Given the description of an element on the screen output the (x, y) to click on. 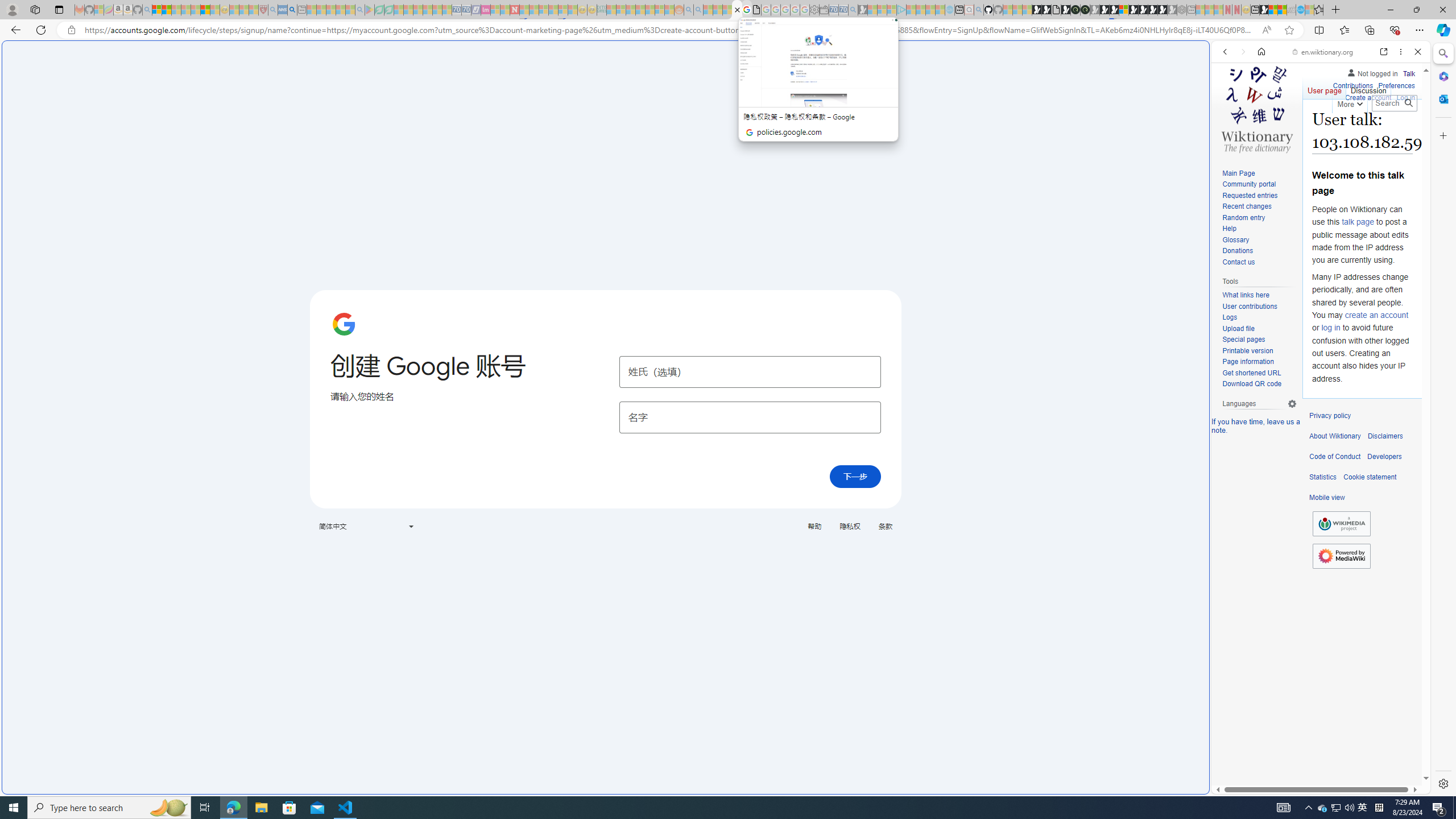
Statistics (1322, 477)
AutomationID: footer-poweredbyico (1341, 555)
Printable version (1259, 351)
Code of Conduct (1334, 456)
Settings - Sleeping (814, 9)
